Given the description of an element on the screen output the (x, y) to click on. 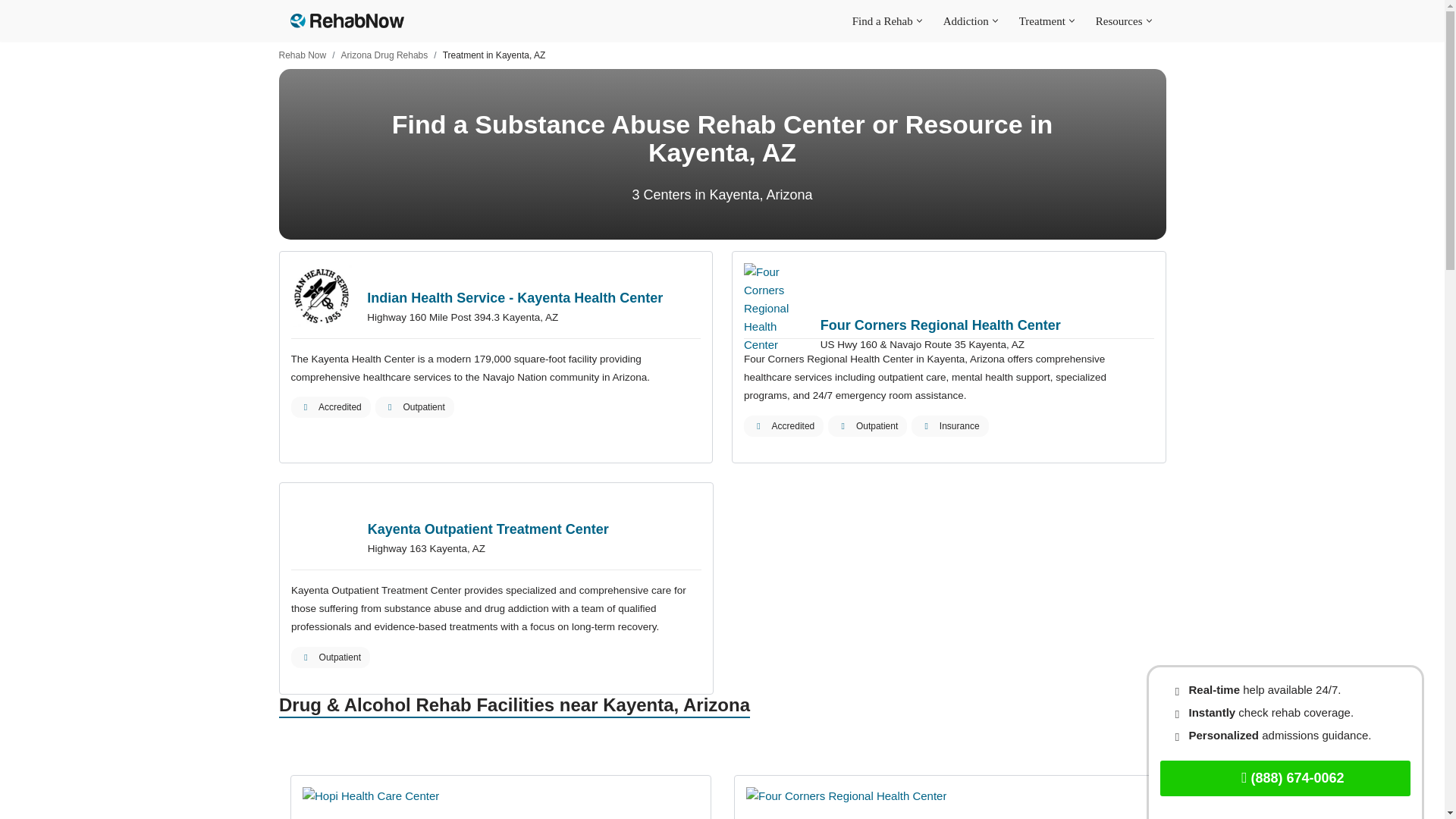
Find a Rehab (881, 20)
Skip to content (11, 31)
